Given the description of an element on the screen output the (x, y) to click on. 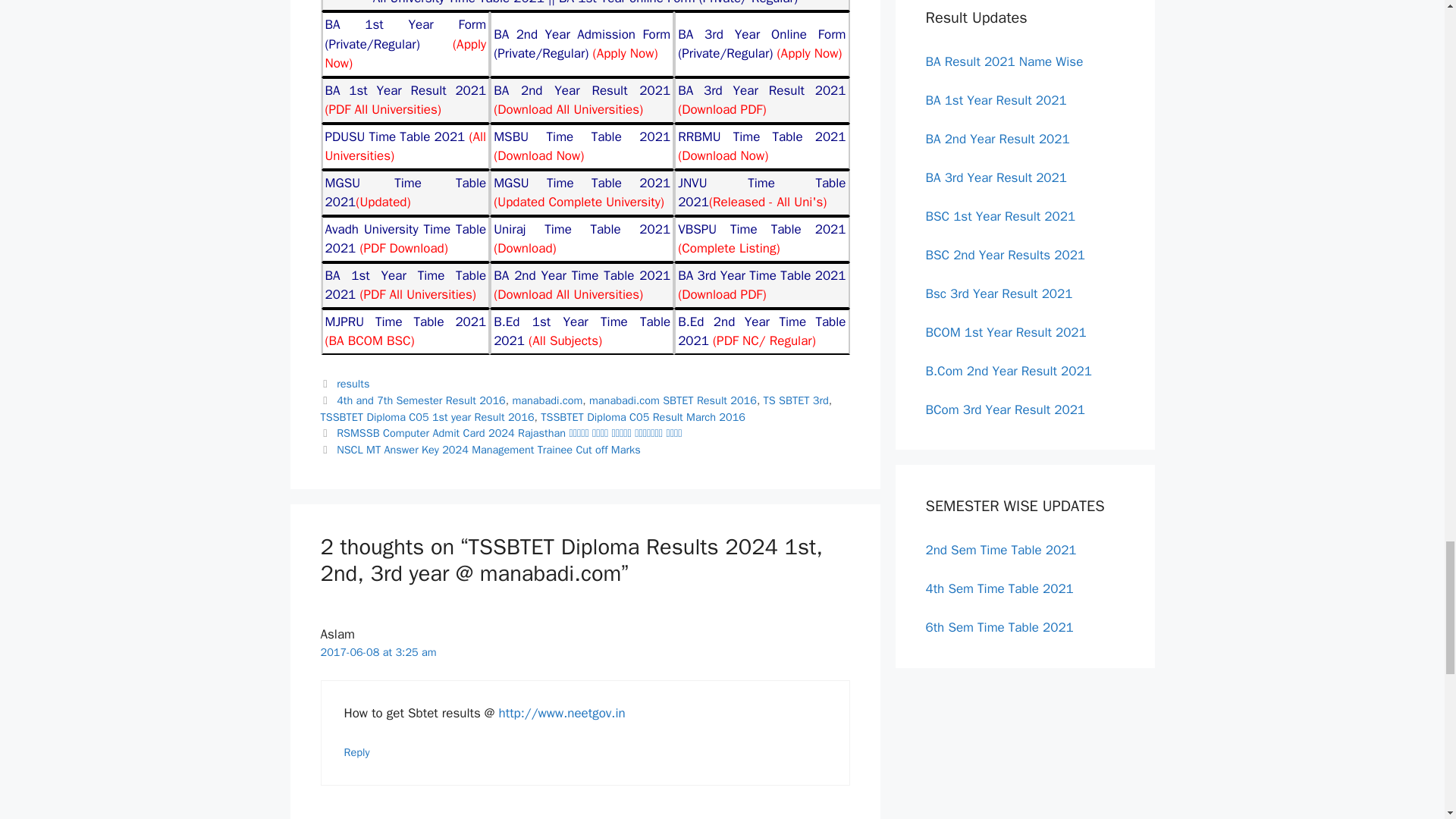
Previous (500, 432)
Next (480, 449)
